Given the description of an element on the screen output the (x, y) to click on. 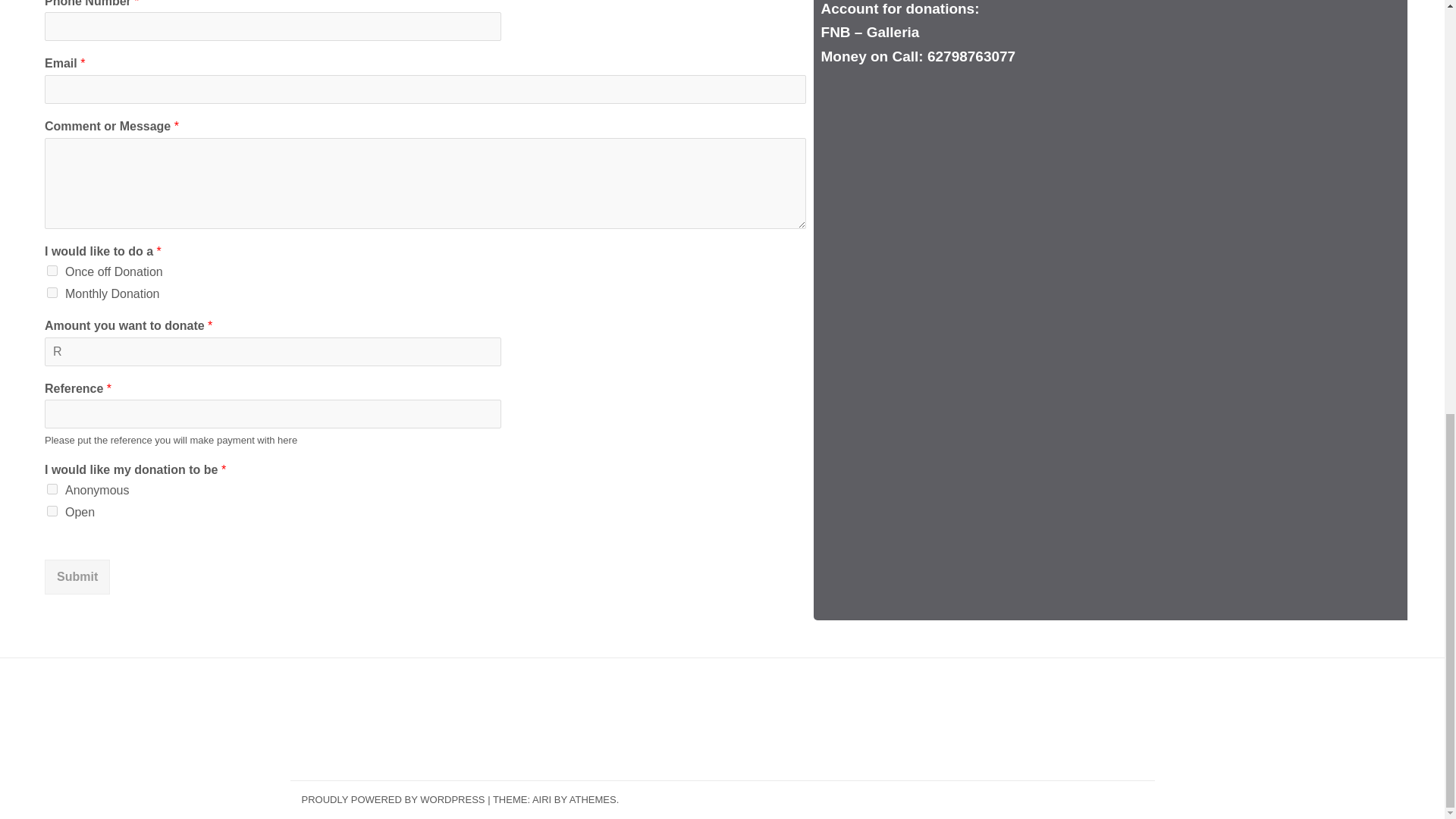
PROUDLY POWERED BY WORDPRESS (392, 799)
Open  (52, 511)
AIRI (541, 799)
Once off Donation (52, 270)
Anonymous (52, 489)
Submit (77, 576)
Monthly Donation (52, 292)
